Given the description of an element on the screen output the (x, y) to click on. 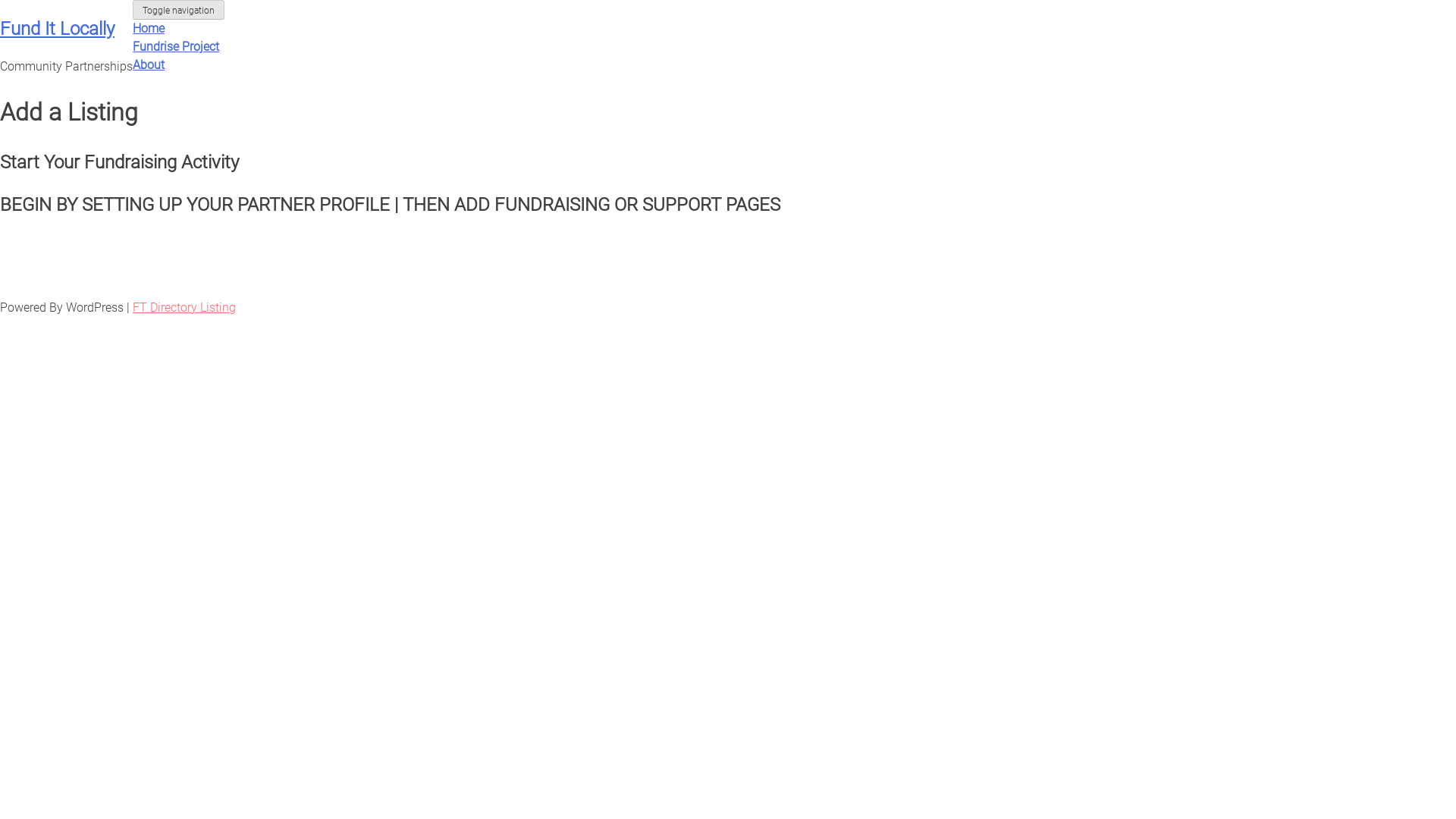
Fundrise Project Element type: text (175, 46)
Fund It Locally Element type: text (57, 28)
About Element type: text (148, 64)
Toggle navigation Element type: text (178, 9)
Home Element type: text (148, 28)
FT Directory Listing Element type: text (183, 307)
